Given the description of an element on the screen output the (x, y) to click on. 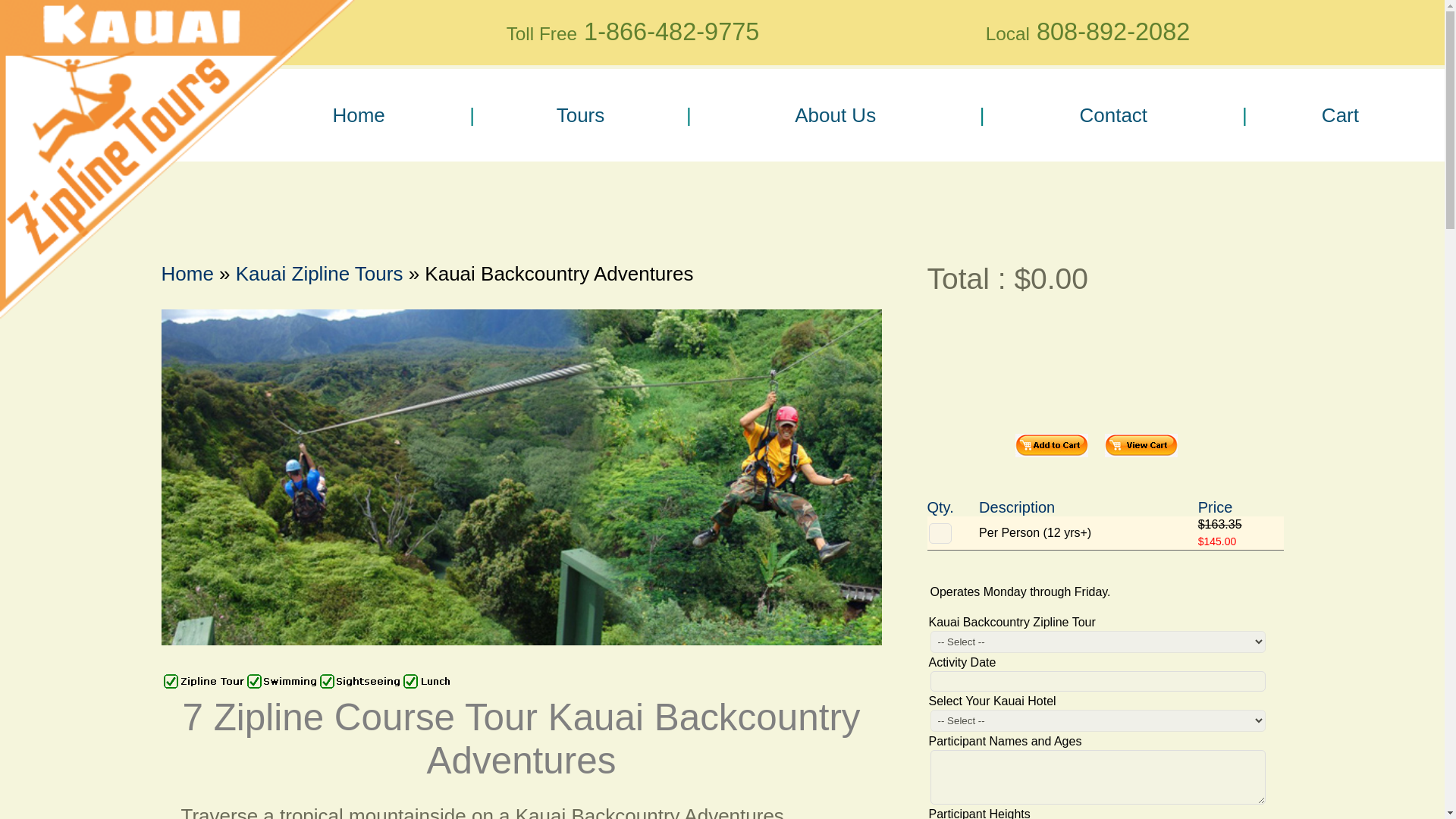
About Us (834, 114)
Kauai Zipline Tours (319, 273)
Home (358, 114)
Tours (580, 114)
Local 808-892-2082 (1087, 32)
Toll Free 1-866-482-9775 (632, 32)
Home (186, 273)
Contact (1113, 114)
Cart (1339, 114)
